Given the description of an element on the screen output the (x, y) to click on. 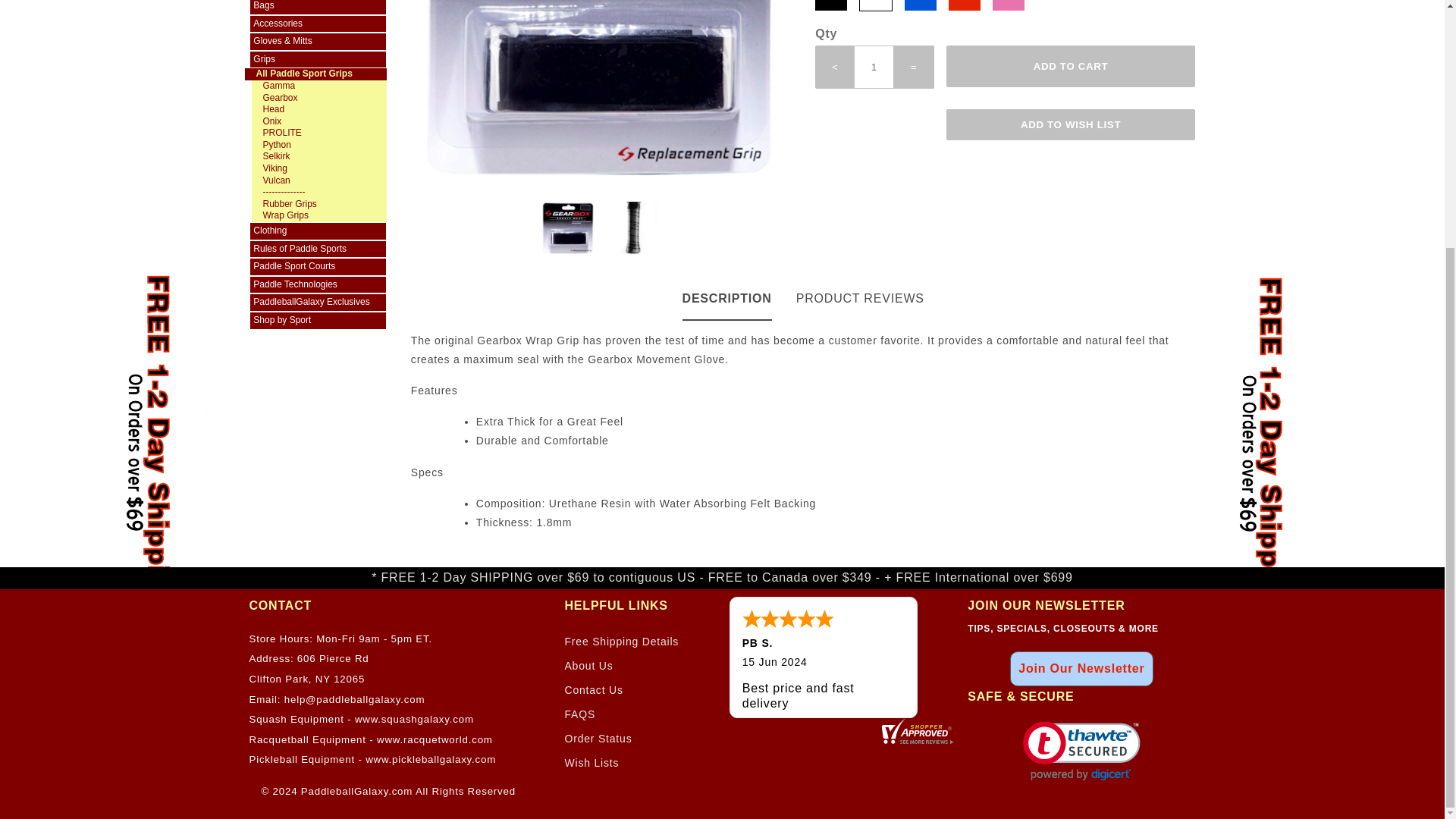
Add To Cart (1070, 65)
Add to Wish List (1070, 124)
1 (873, 66)
